Given the description of an element on the screen output the (x, y) to click on. 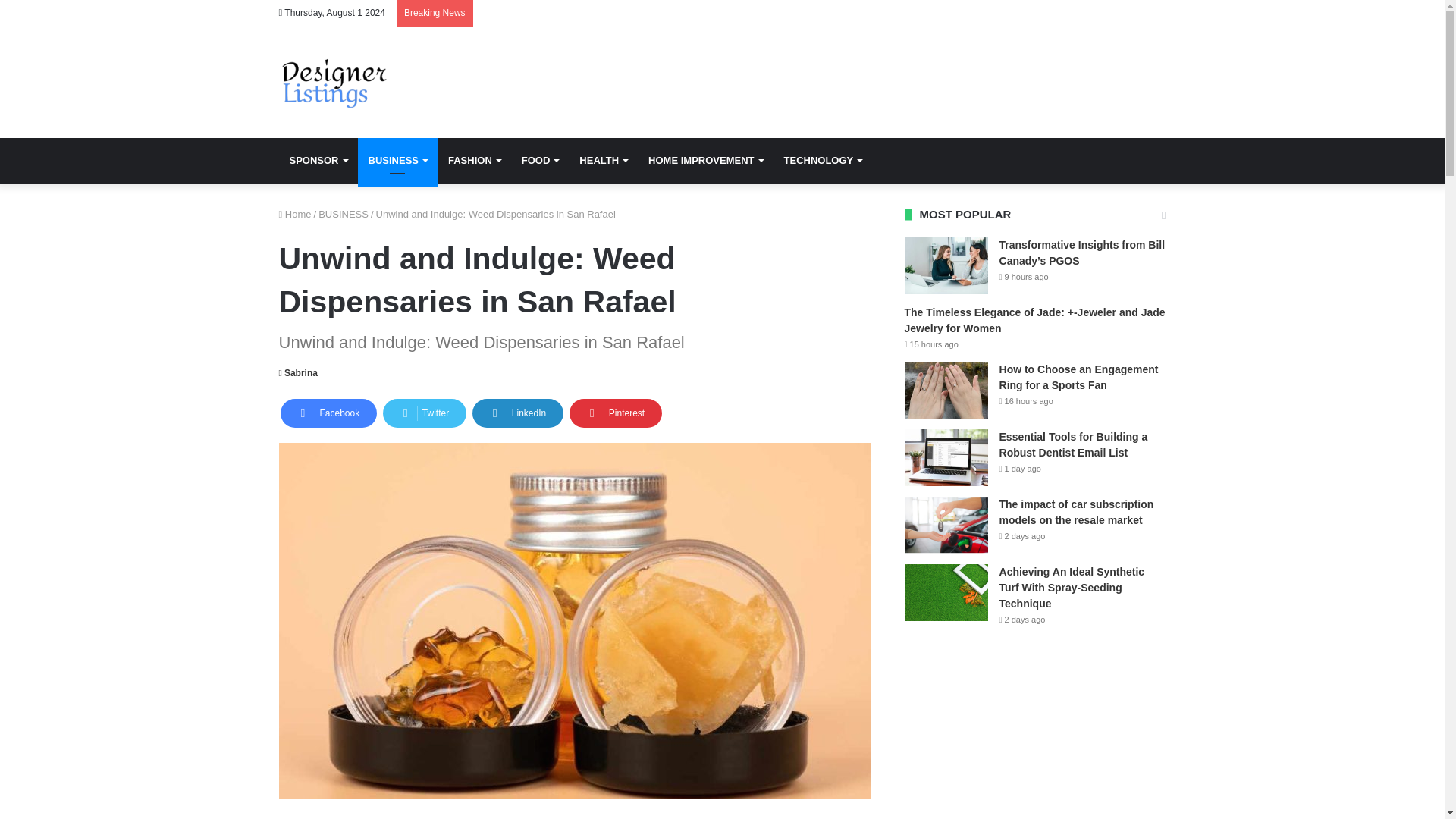
Sabrina (298, 372)
FOOD (540, 160)
HOME IMPROVEMENT (705, 160)
BUSINESS (398, 160)
BUSINESS (343, 214)
LinkedIn (517, 412)
LinkedIn (517, 412)
Facebook (329, 412)
Twitter (423, 412)
Sabrina (298, 372)
HEALTH (603, 160)
Pinterest (615, 412)
SPONSOR (318, 160)
Twitter (423, 412)
TECHNOLOGY (822, 160)
